Given the description of an element on the screen output the (x, y) to click on. 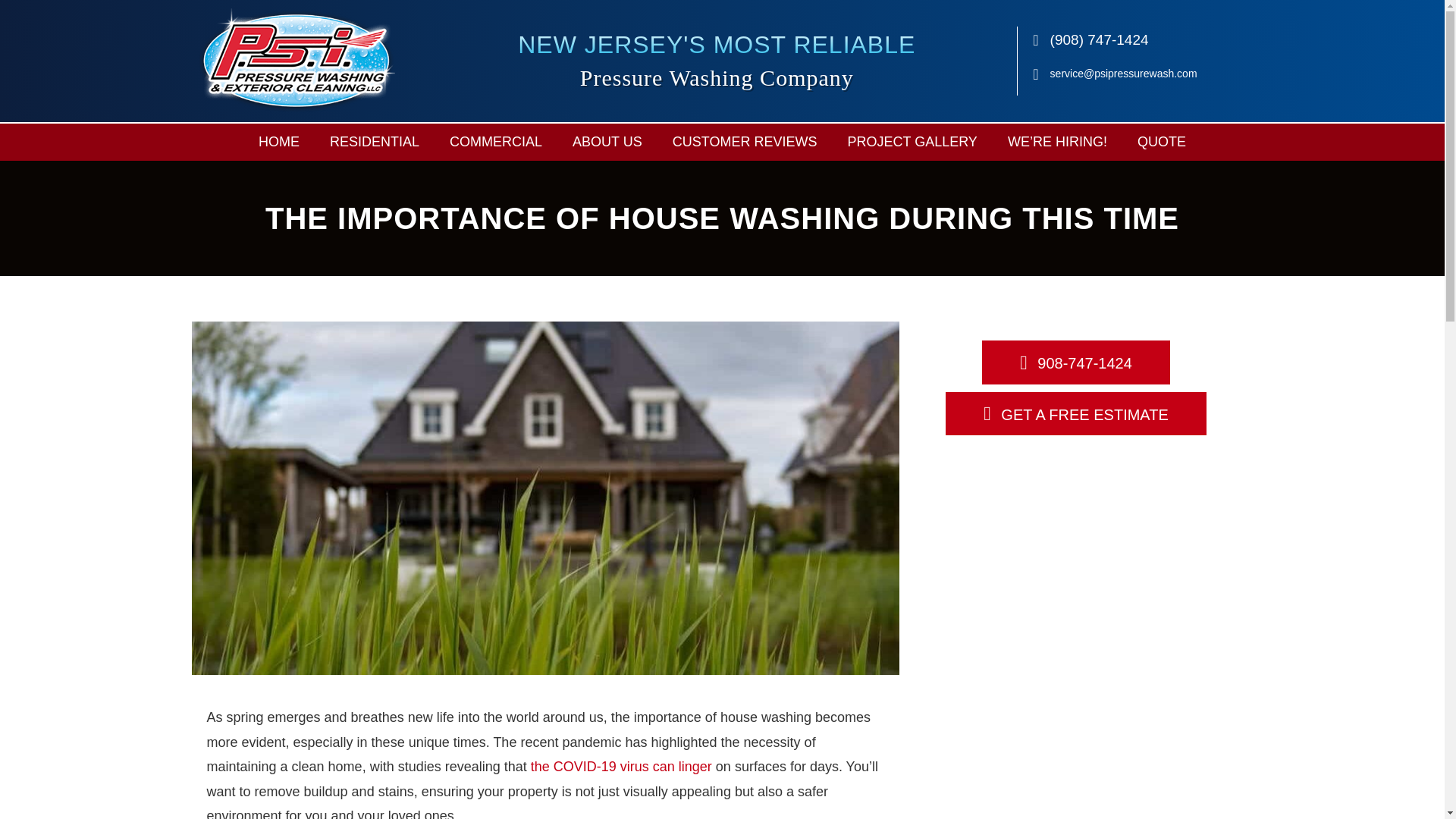
ABOUT US (607, 141)
PROJECT GALLERY (911, 141)
COMMERCIAL (495, 141)
HOME (278, 141)
QUOTE (1161, 141)
RESIDENTIAL (373, 141)
CUSTOMER REVIEWS (745, 141)
